Given the description of an element on the screen output the (x, y) to click on. 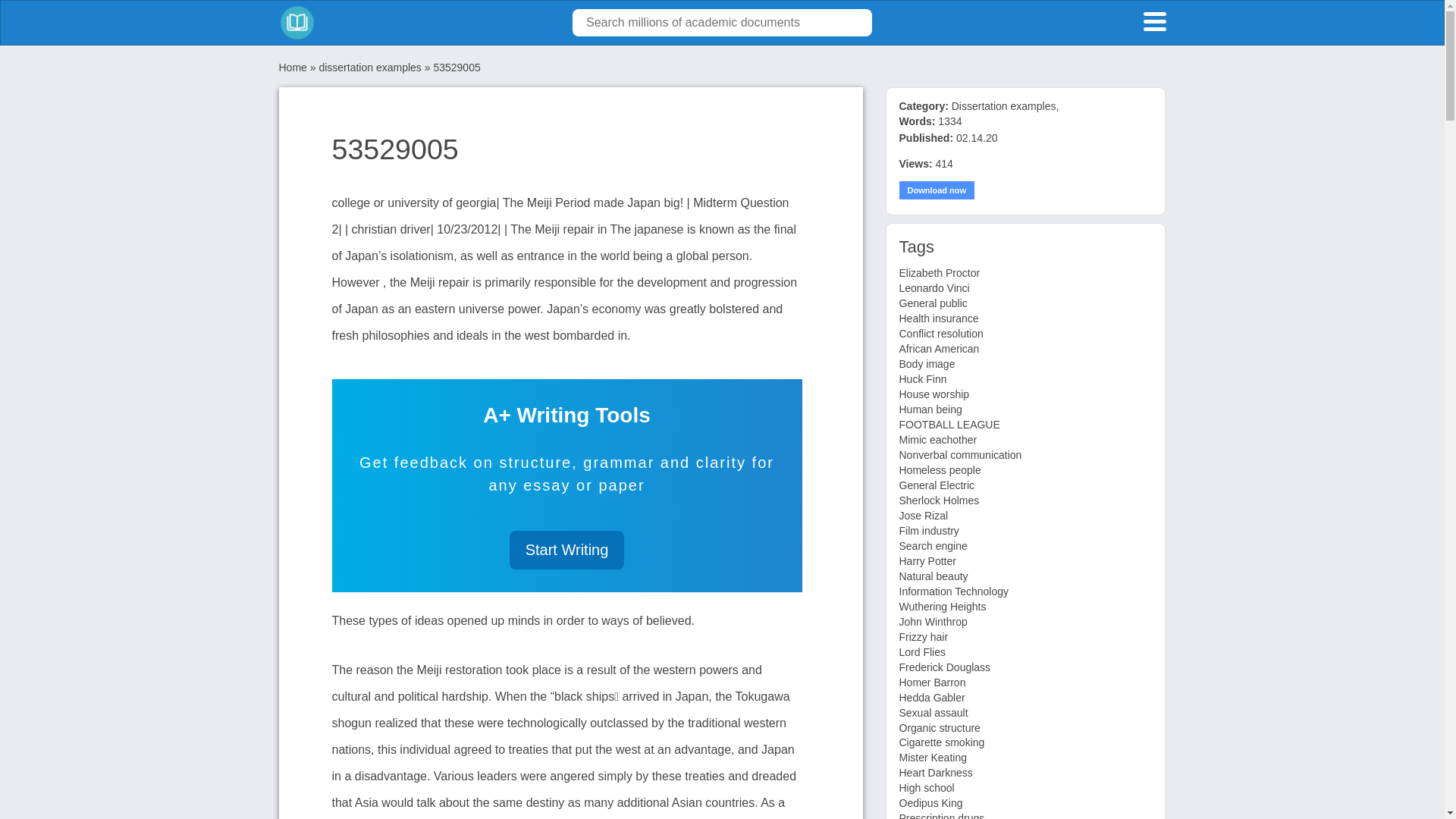
dissertation examples (369, 67)
Dissertation examples (1004, 105)
Start Writing (566, 549)
Home (293, 67)
